Given the description of an element on the screen output the (x, y) to click on. 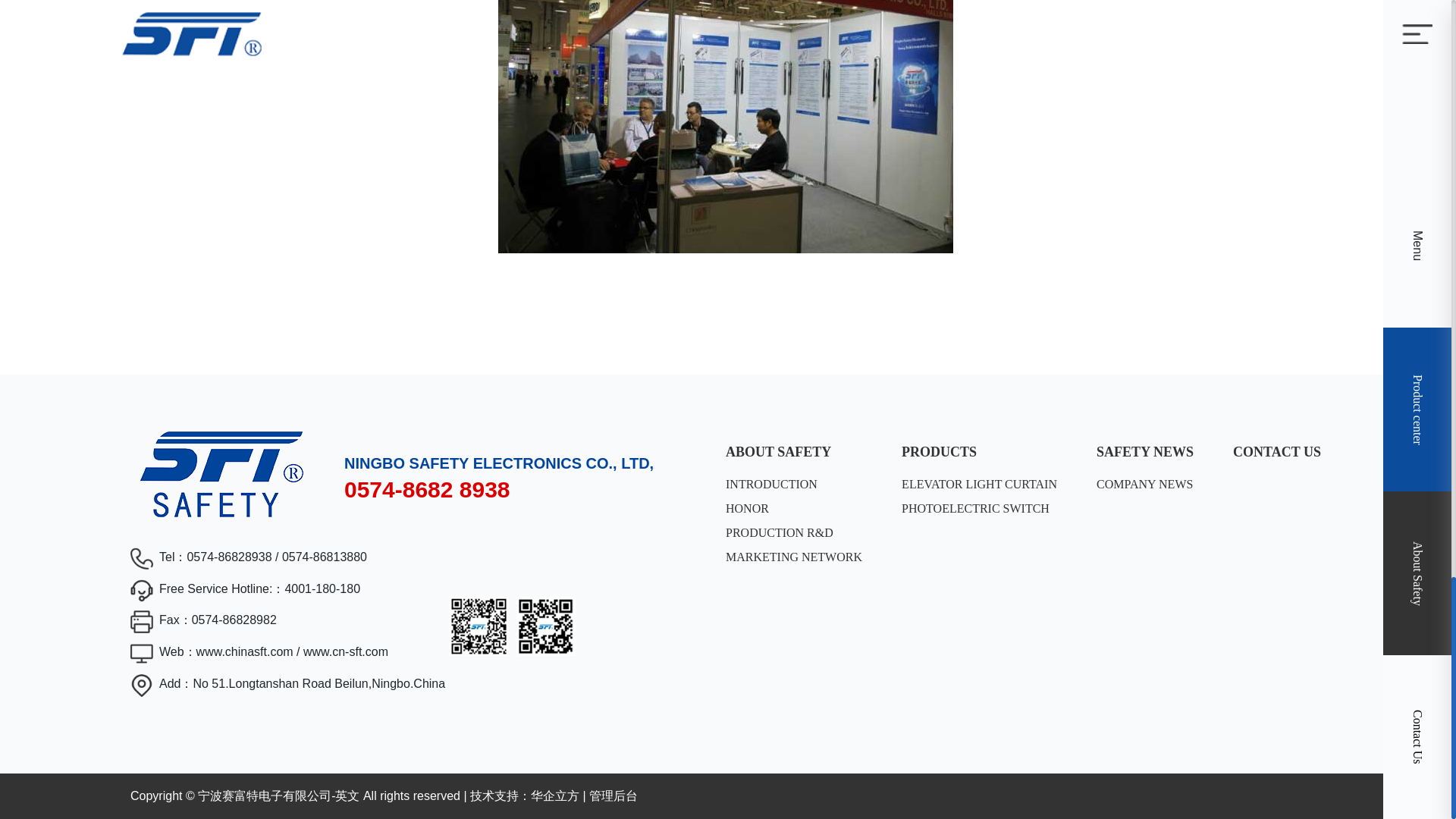
SAFETY NEWS (1144, 451)
COMPANY NEWS (1144, 484)
MARKETING NETWORK (793, 557)
INTRODUCTION (793, 484)
PRODUCTS (979, 451)
CONTACT US (1276, 451)
ABOUT SAFETY (793, 451)
PHOTOELECTRIC SWITCH (979, 508)
HONOR (793, 508)
ELEVATOR LIGHT CURTAIN (979, 484)
